Given the description of an element on the screen output the (x, y) to click on. 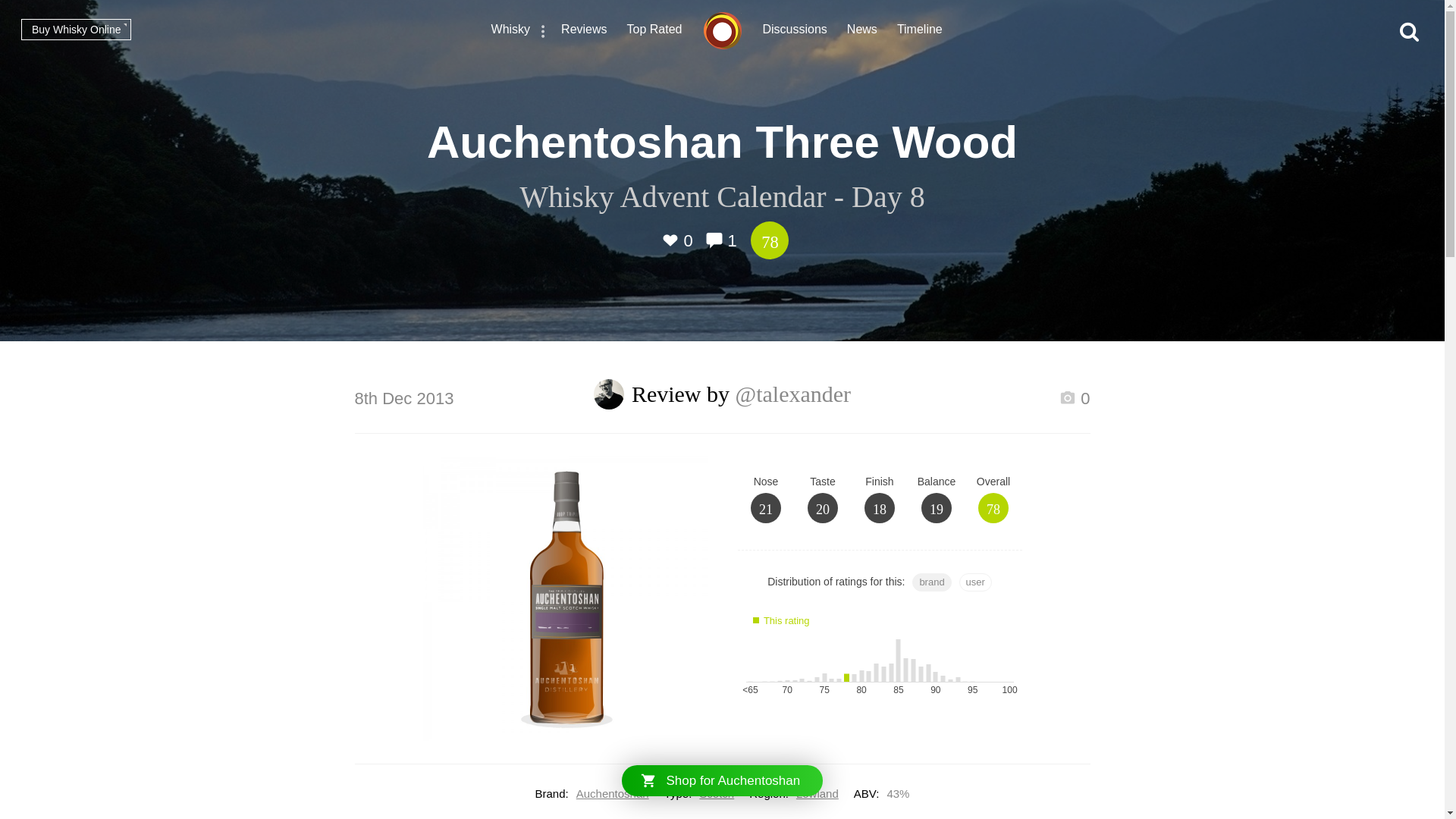
Discussions (794, 31)
Top Rated (654, 31)
0 (1074, 399)
Buy Whisky Online (76, 29)
CONNOSR. (721, 30)
Recent actvity timeline (919, 31)
Timeline (919, 31)
Whisky reviews (583, 31)
Auchentoshan (612, 793)
Lowland (817, 793)
Scotch (715, 793)
Reviews (583, 31)
Whisky discussions (794, 31)
Search this site (1408, 31)
Whisky (511, 31)
